Given the description of an element on the screen output the (x, y) to click on. 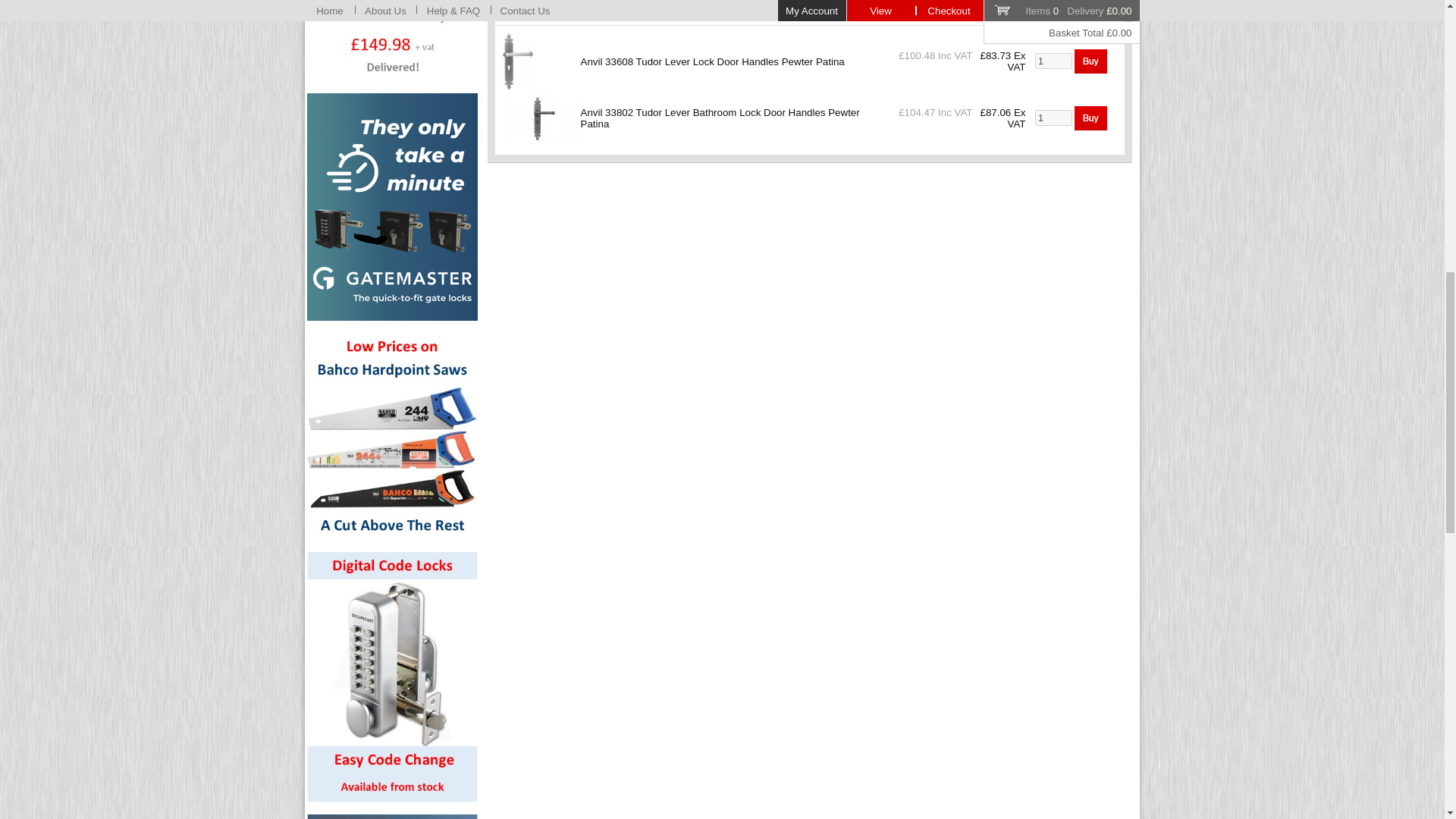
1 (1053, 60)
Reisser Cutter Screws and Crate Mate Promotion. (392, 40)
1 (1053, 117)
Reisser Crate Mate Storage System. (392, 816)
